Given the description of an element on the screen output the (x, y) to click on. 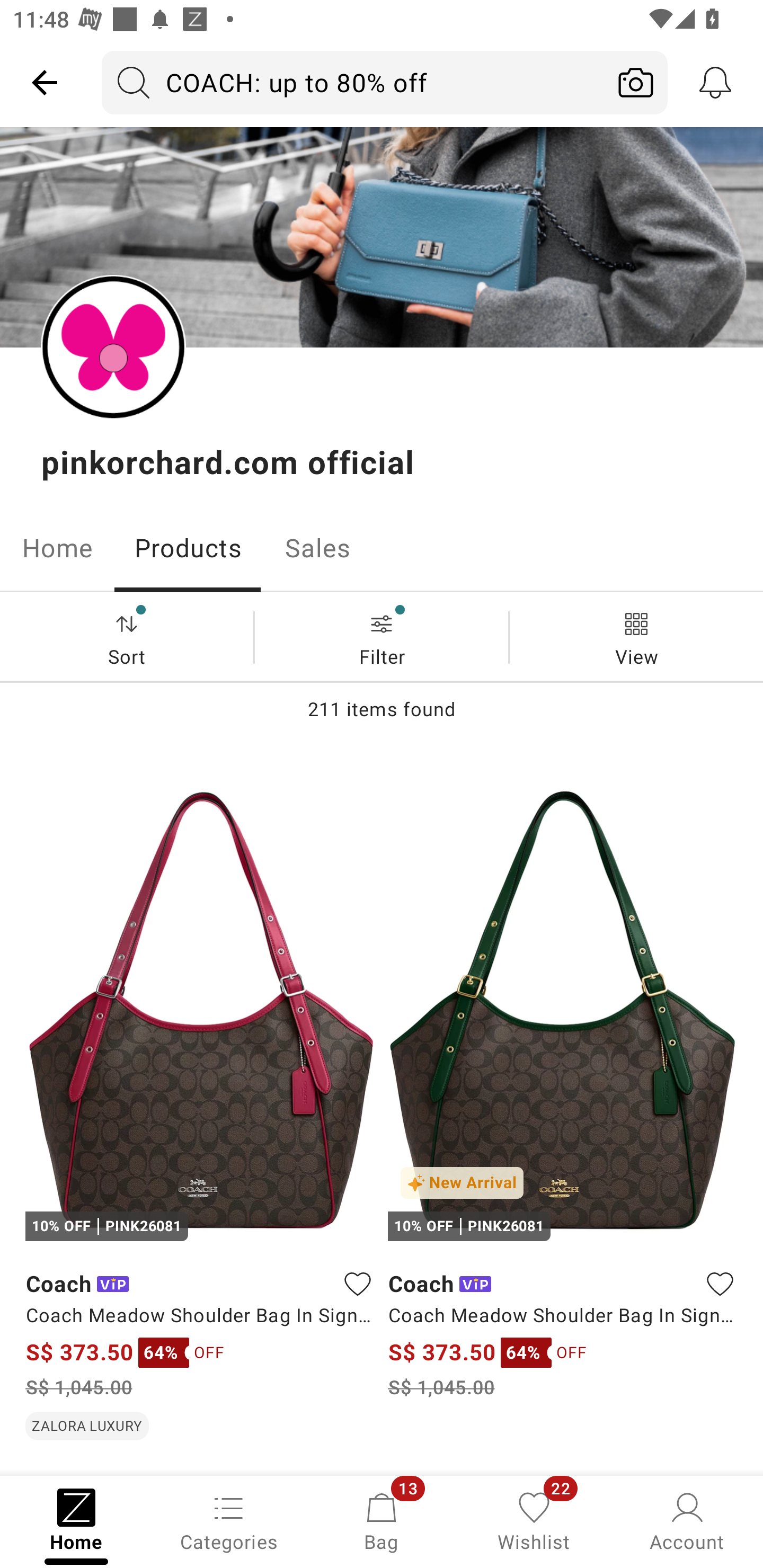
Navigate up (44, 82)
COACH: up to 80% off (352, 82)
Home (57, 547)
Sales (317, 547)
Categories (228, 1519)
Bag, 13 new notifications Bag (381, 1519)
Wishlist, 22 new notifications Wishlist (533, 1519)
Account (686, 1519)
